Given the description of an element on the screen output the (x, y) to click on. 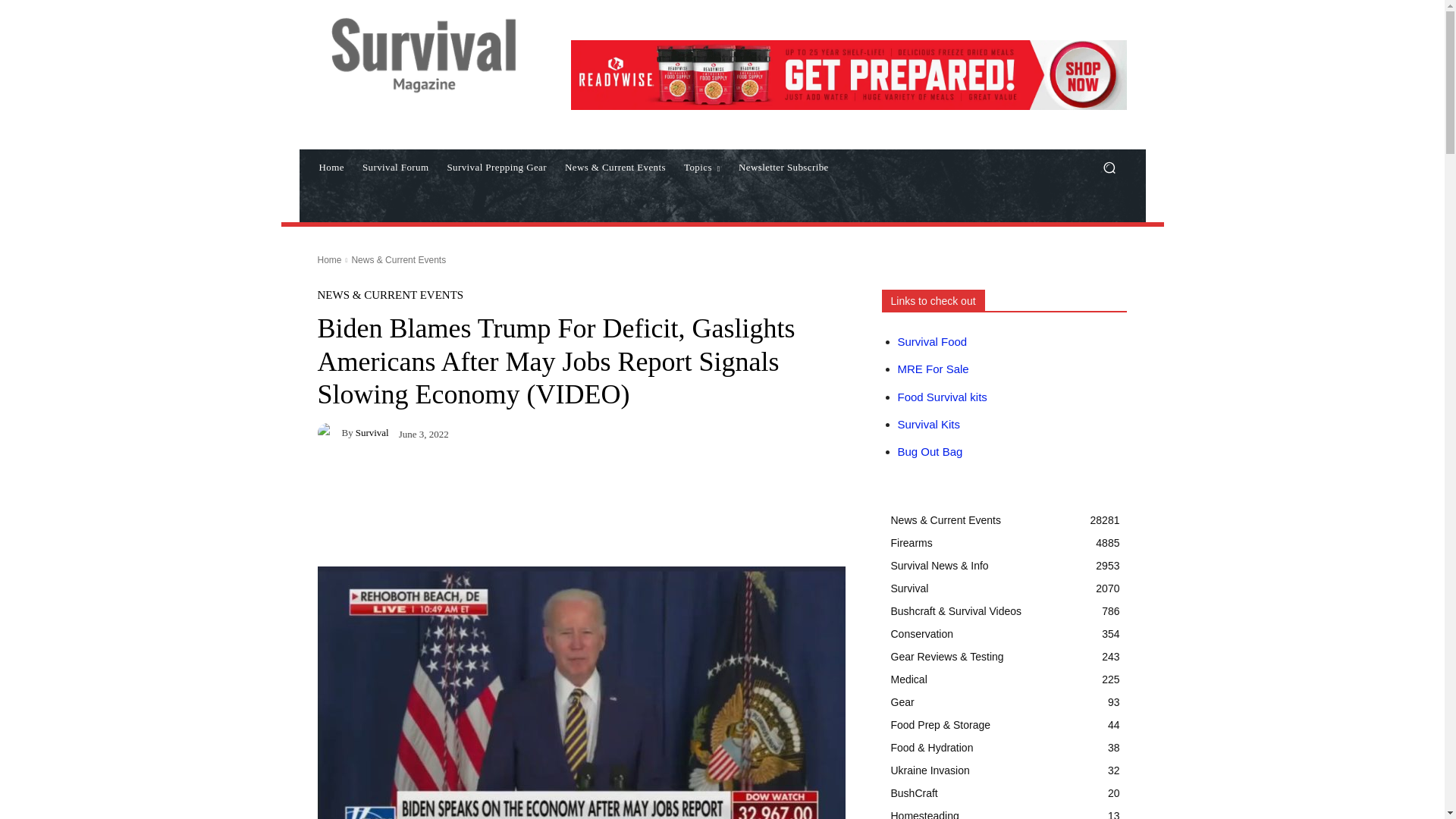
survival (328, 433)
Survival Forum  (395, 167)
